Given the description of an element on the screen output the (x, y) to click on. 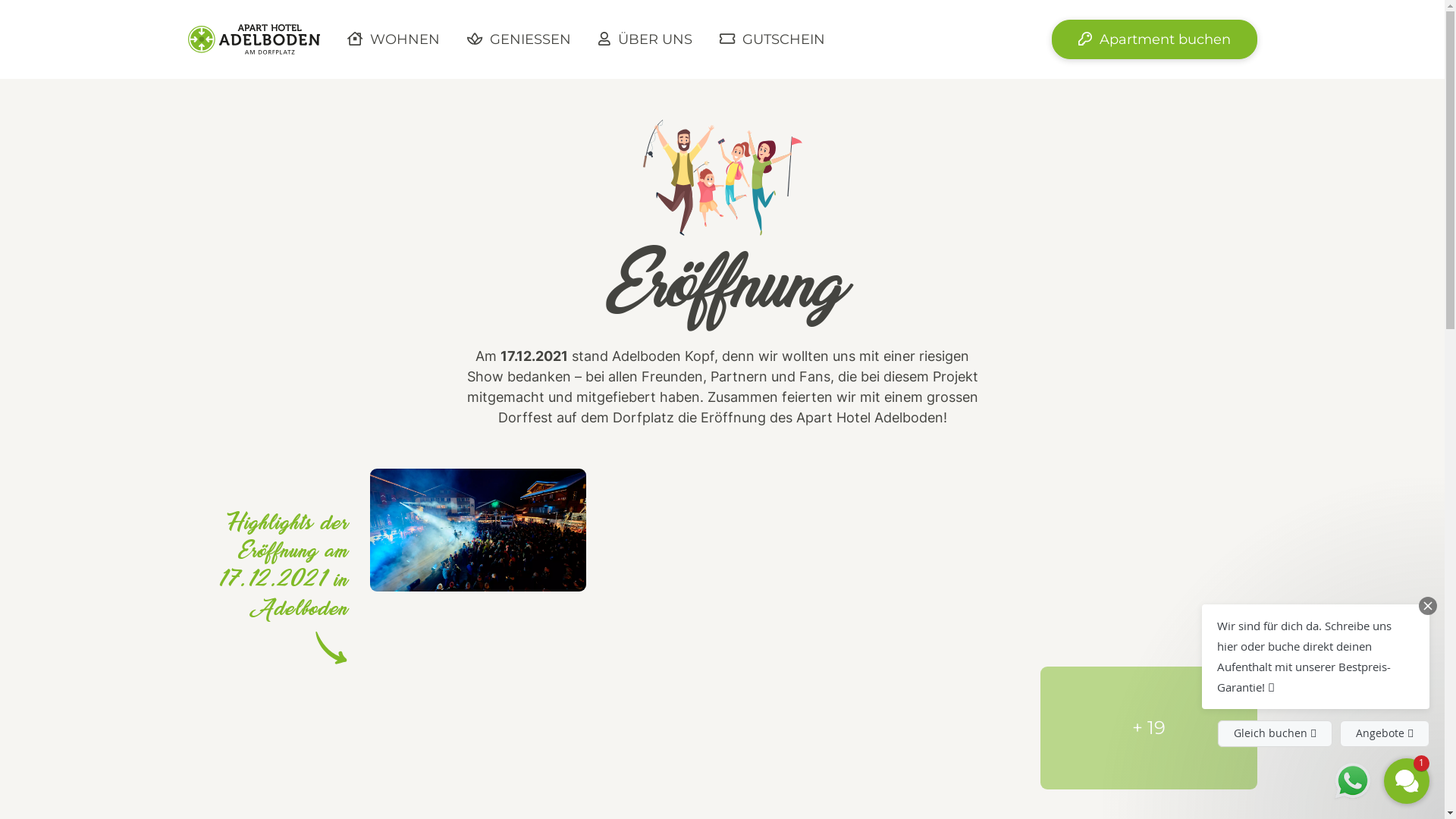
 GUTSCHEIN Element type: text (772, 39)
+ 19 Element type: text (1148, 727)
 Apartment buchen Element type: text (1154, 39)
 WOHNEN Element type: text (393, 39)
 GENIESSEN Element type: text (518, 39)
